Given the description of an element on the screen output the (x, y) to click on. 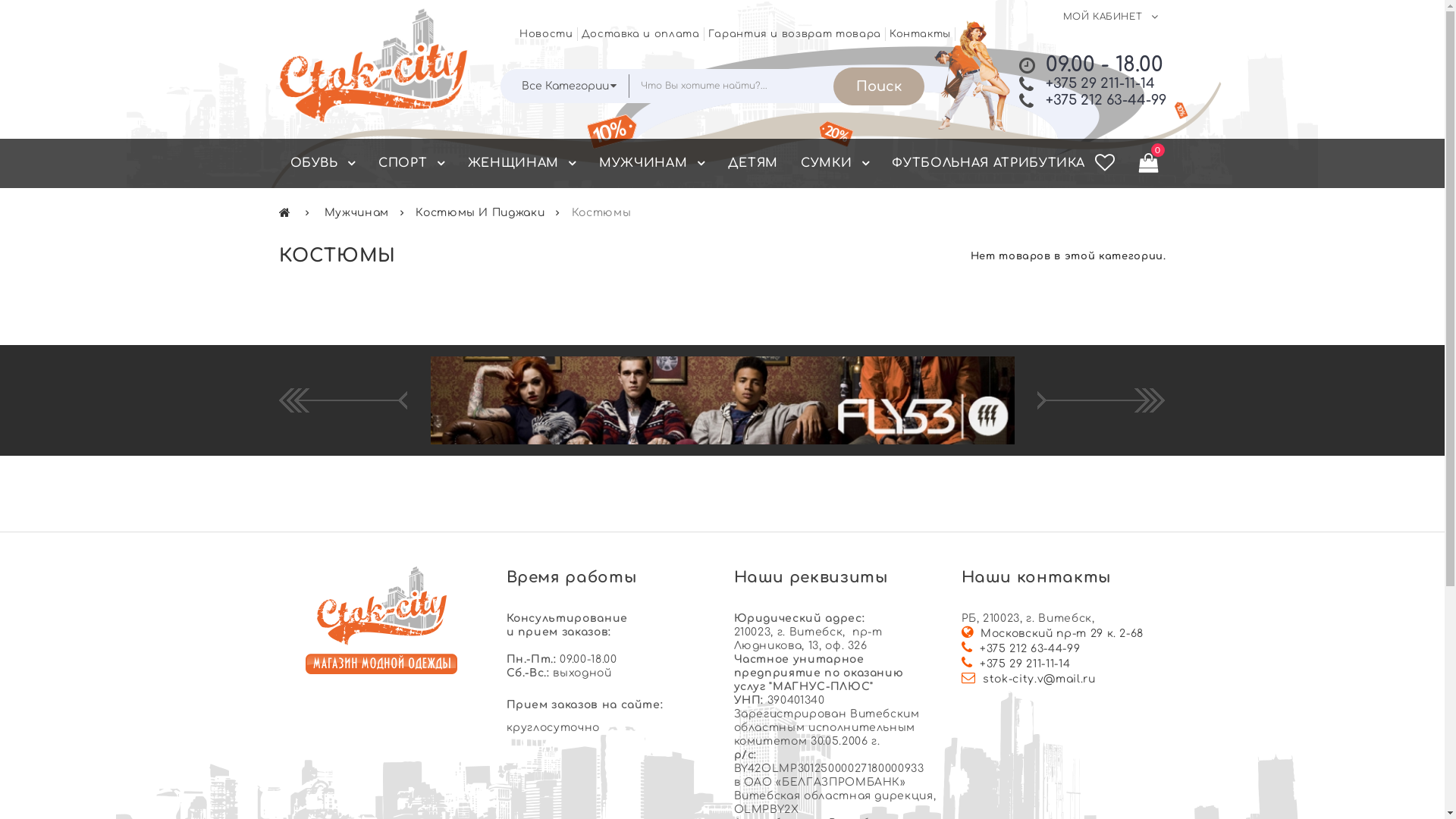
stok-city.v@mail.ru Element type: text (1038, 679)
